Given the description of an element on the screen output the (x, y) to click on. 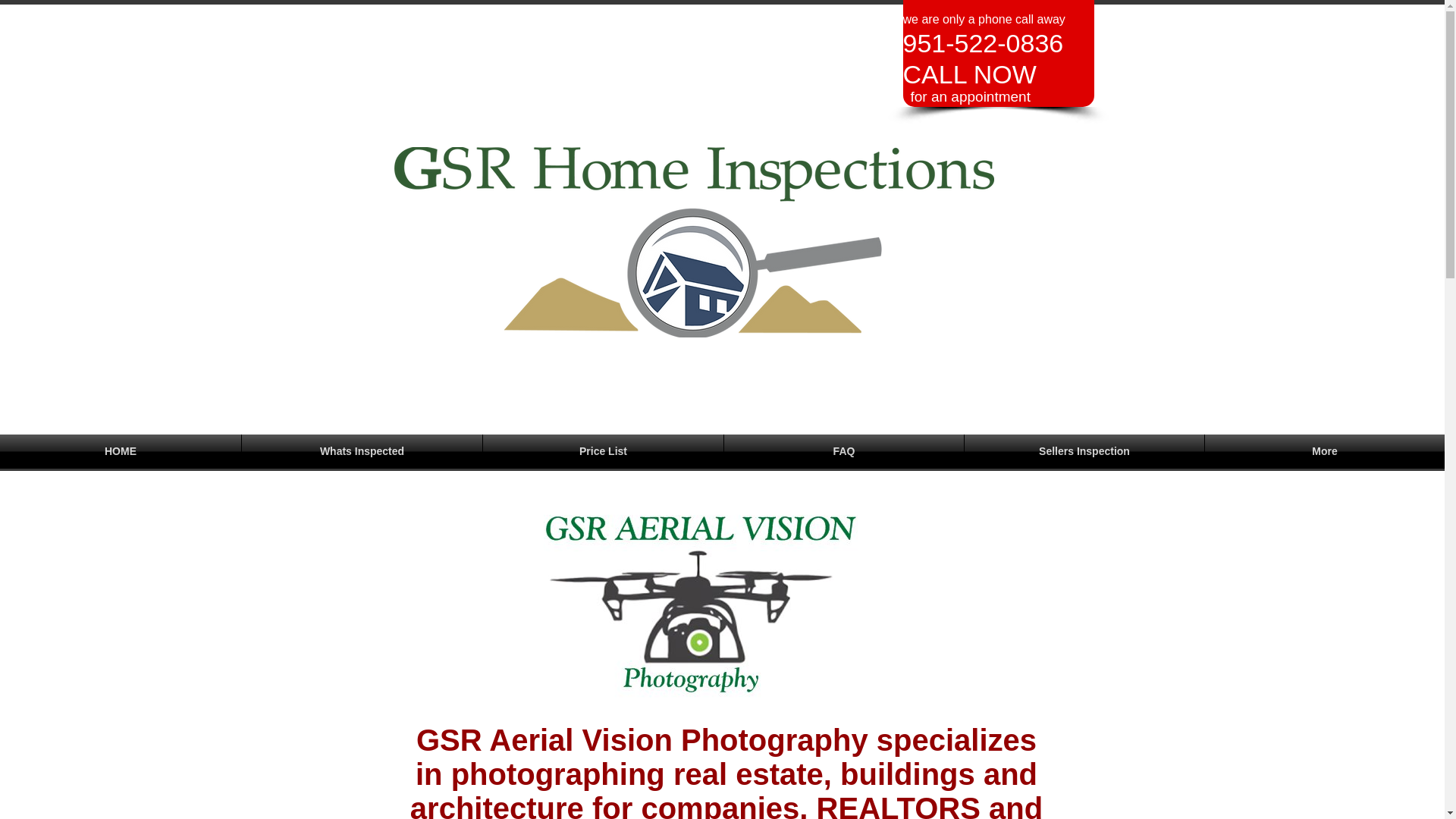
HOME (120, 451)
FAQ (843, 451)
Whats Inspected (361, 451)
Price List (603, 451)
Sellers Inspection (1083, 451)
